Given the description of an element on the screen output the (x, y) to click on. 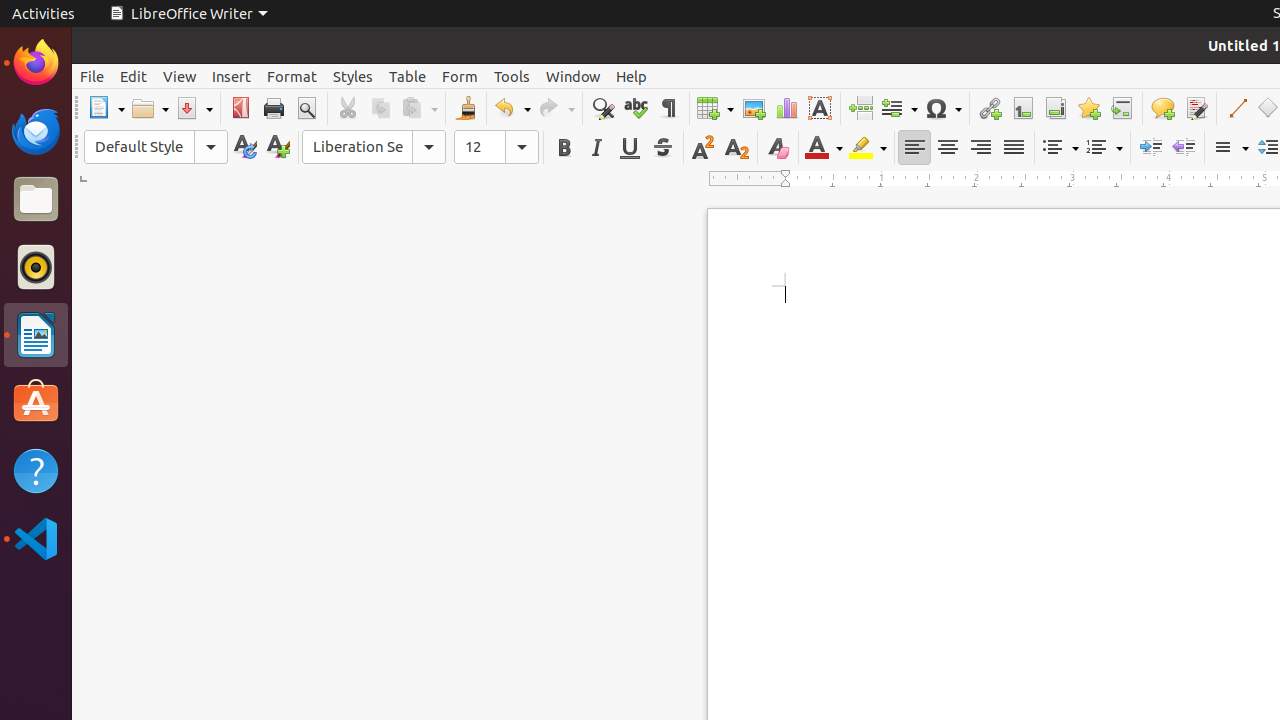
Ubuntu Software Element type: push-button (36, 402)
View Element type: menu (179, 76)
Superscript Element type: toggle-button (703, 147)
Tools Element type: menu (512, 76)
Open Element type: push-button (150, 108)
